Given the description of an element on the screen output the (x, y) to click on. 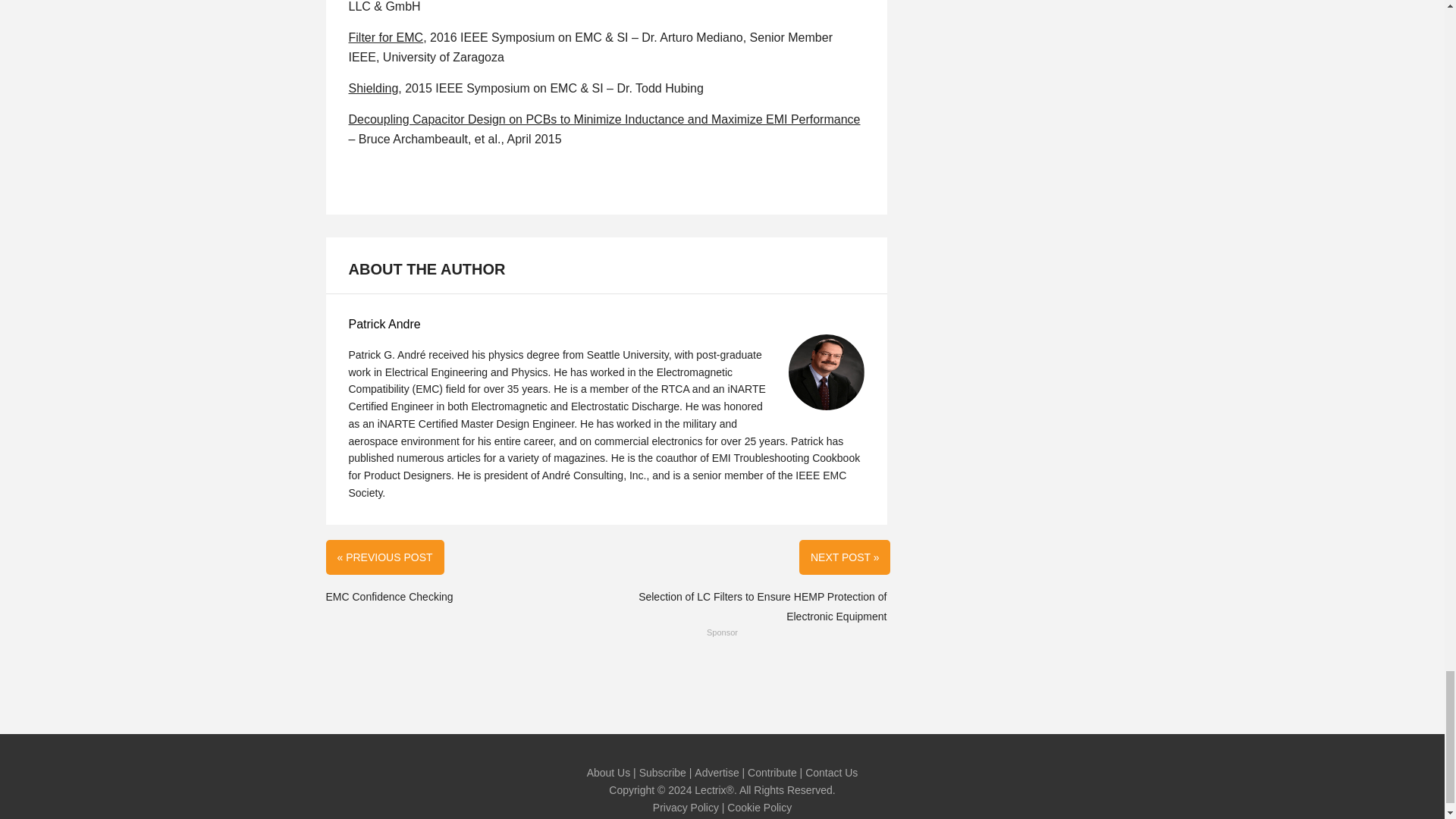
3rd party ad content (722, 676)
